Given the description of an element on the screen output the (x, y) to click on. 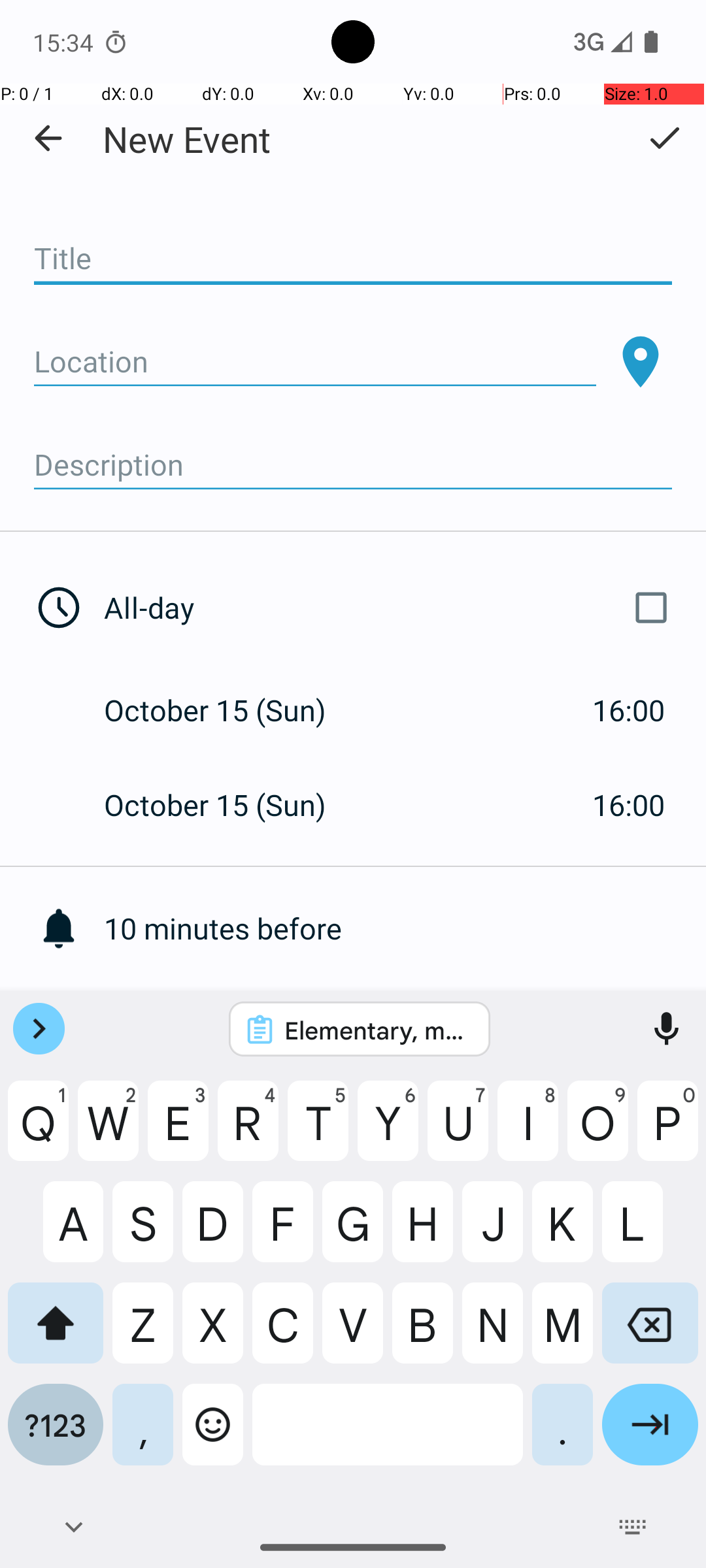
Elementary, my dear Watson. Element type: android.widget.TextView (376, 1029)
